Given the description of an element on the screen output the (x, y) to click on. 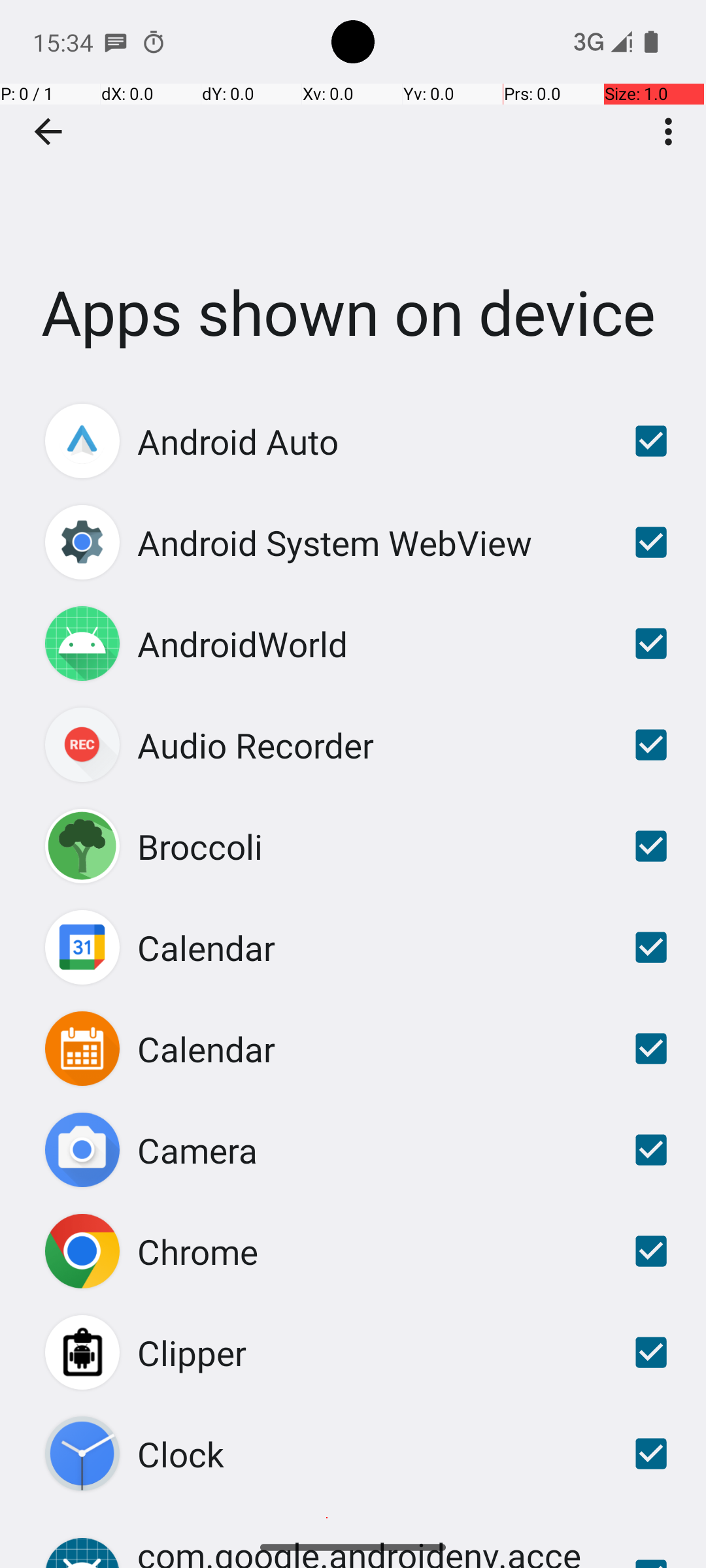
Apps shown on device Element type: android.widget.FrameLayout (353, 195)
